Given the description of an element on the screen output the (x, y) to click on. 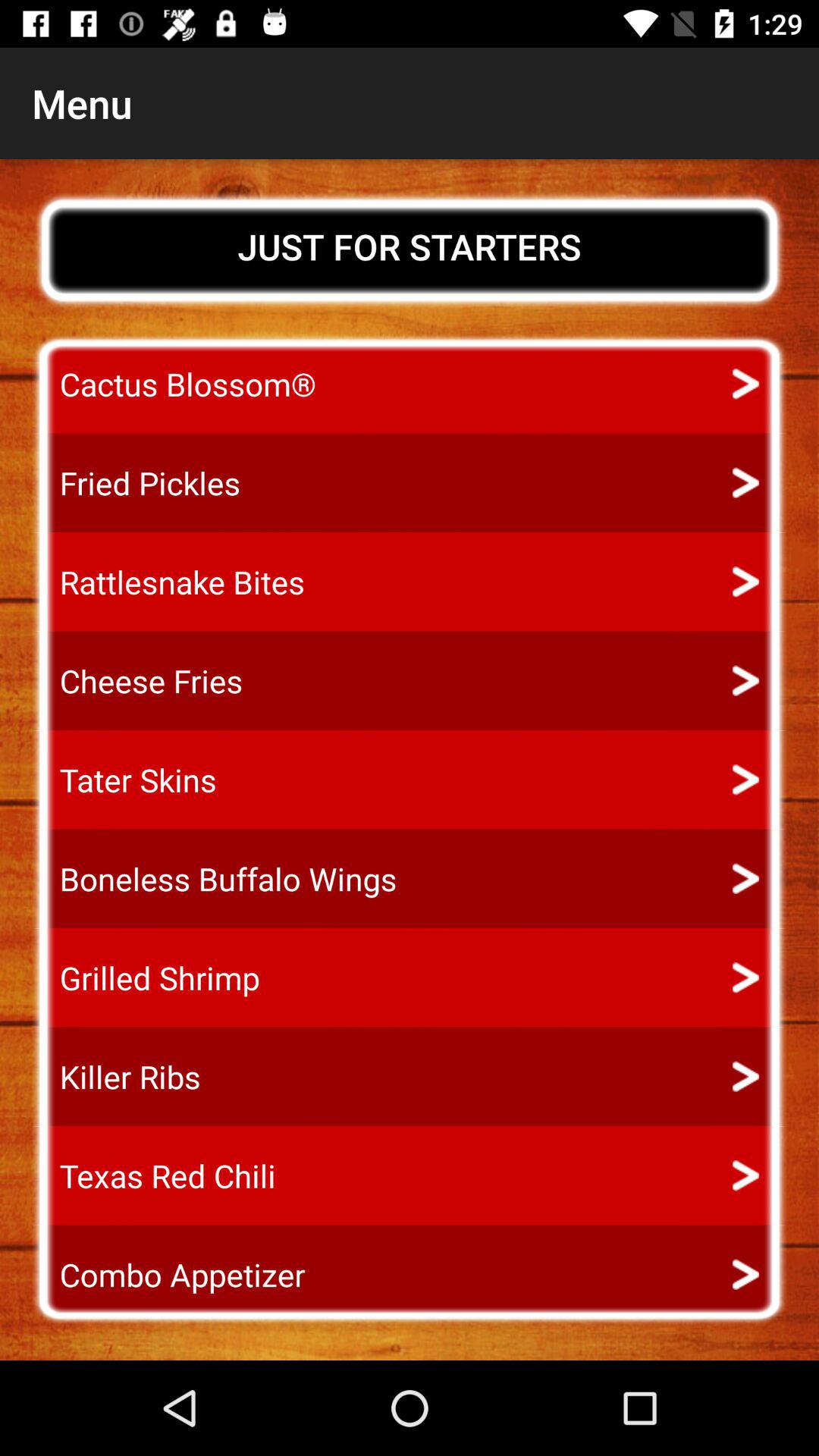
turn off the app below killer ribs app (153, 1175)
